Given the description of an element on the screen output the (x, y) to click on. 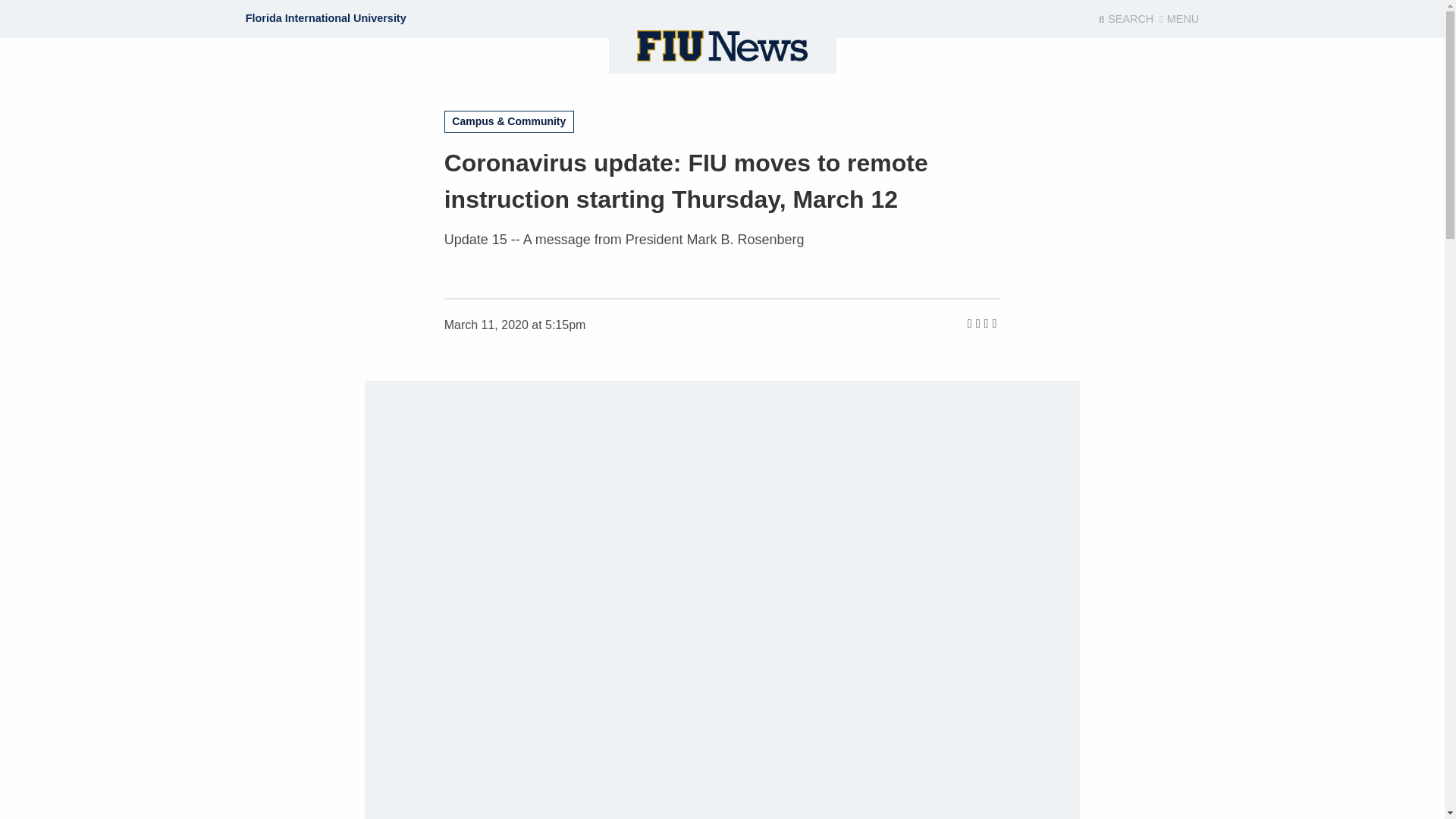
MENU (1178, 19)
Florida International University (326, 18)
SEARCH (1125, 19)
